Given the description of an element on the screen output the (x, y) to click on. 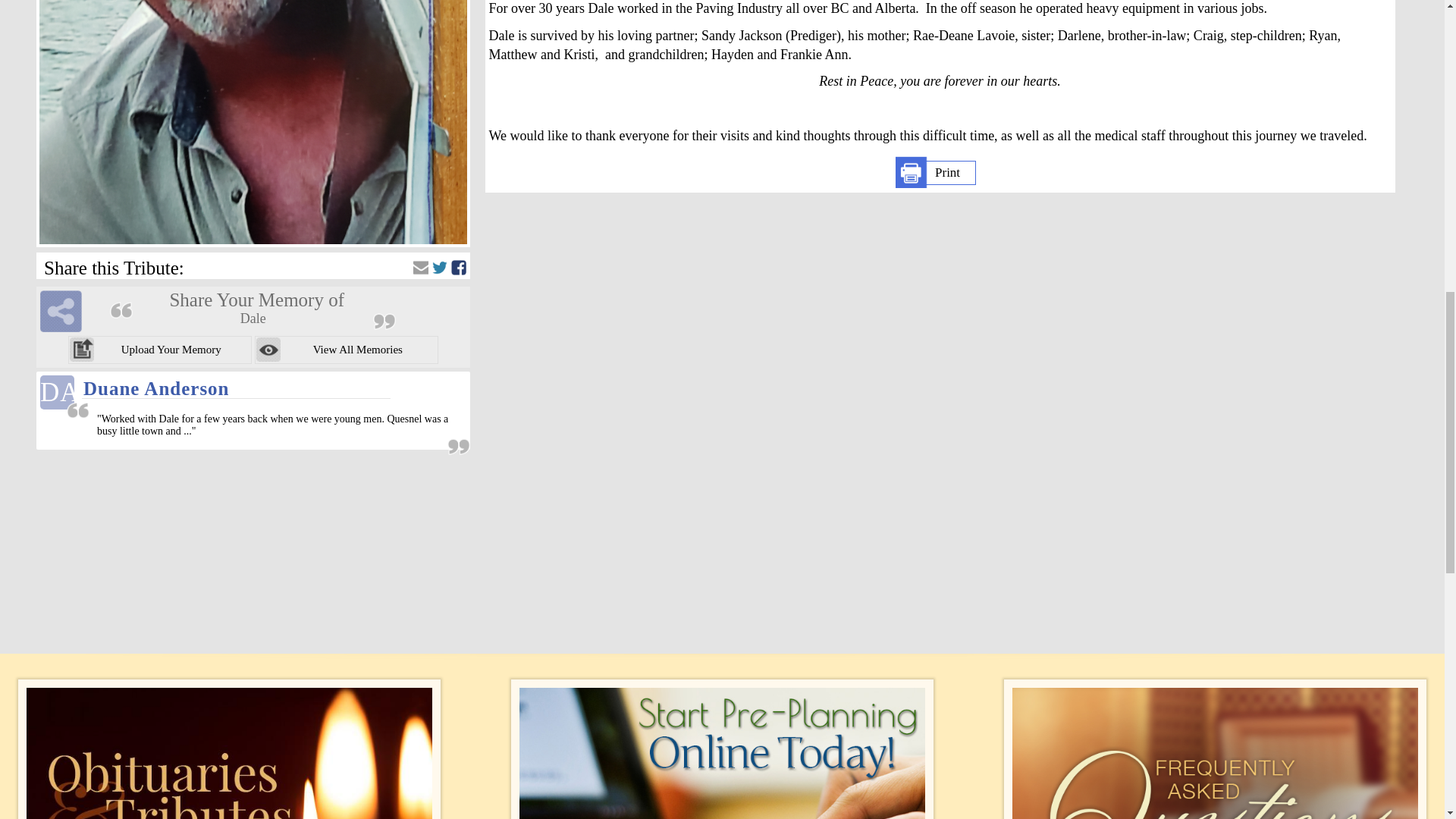
Print (935, 172)
Receive Notifications (420, 267)
Facebook (458, 267)
Twitter (439, 267)
Upload Your Memory (159, 349)
View All Memories (346, 349)
Print (935, 172)
